Given the description of an element on the screen output the (x, y) to click on. 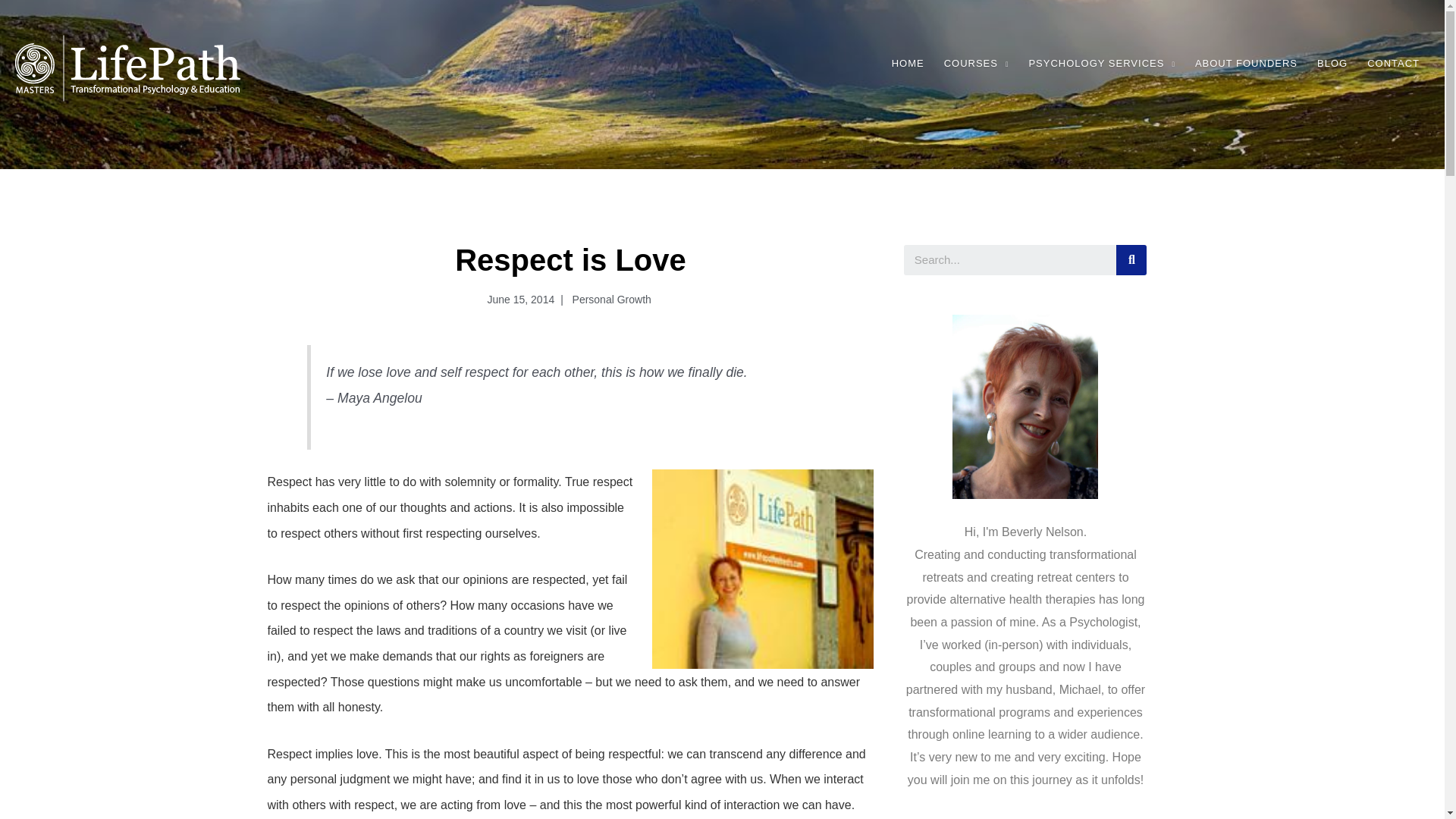
ABOUT FOUNDERS (1246, 63)
Search (1010, 259)
PSYCHOLOGY SERVICES (1101, 63)
Personal Growth (609, 299)
BLOG (1331, 63)
Respect is Love (762, 569)
COURSES (976, 63)
June 15, 2014 (517, 300)
CONTACT (1392, 63)
Search (1131, 259)
HOME (908, 63)
